Given the description of an element on the screen output the (x, y) to click on. 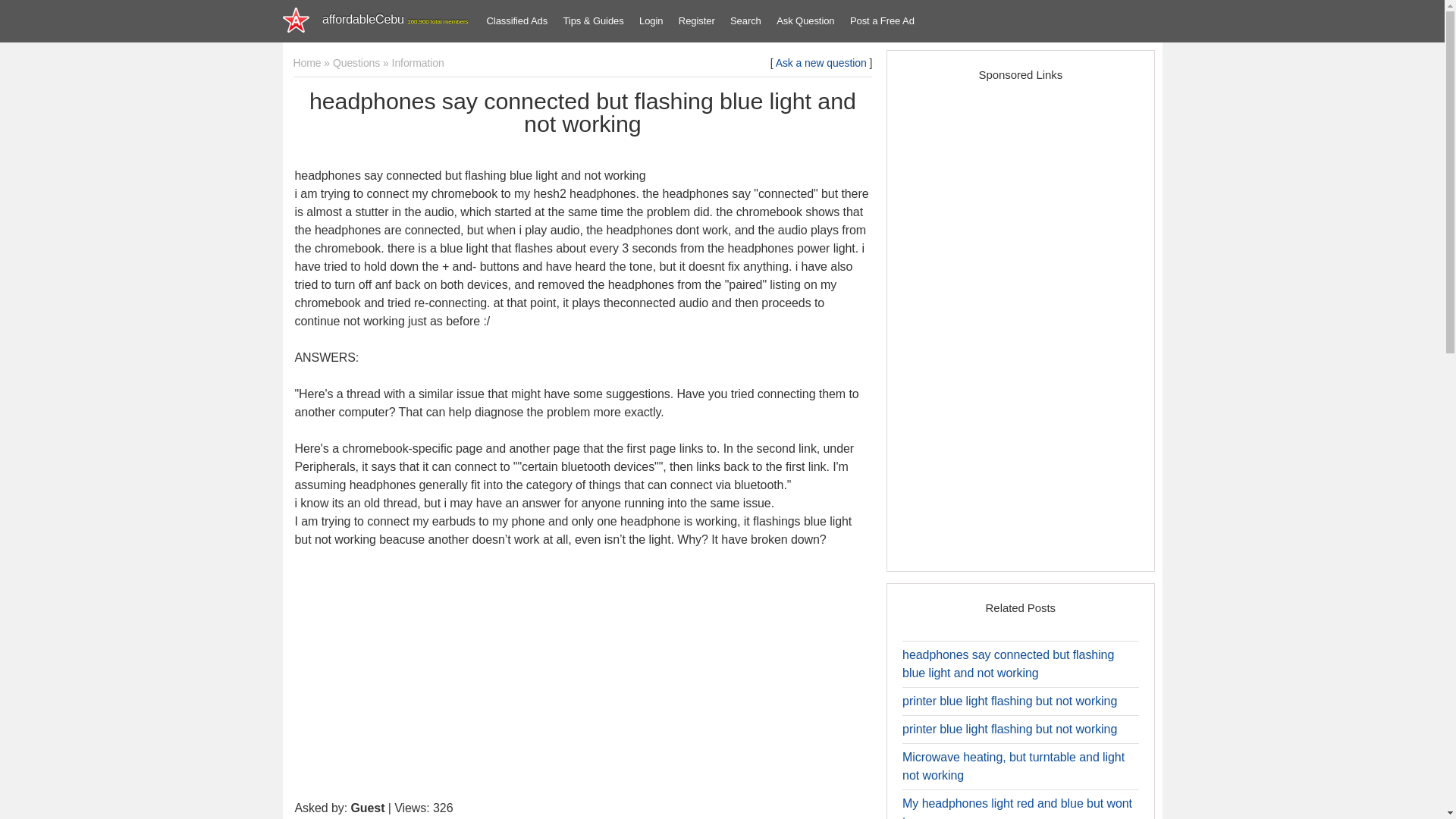
Classified Ads (517, 21)
Ask a new question (821, 62)
Advertisement (582, 678)
printer blue light flashing but not working (1009, 728)
Information (417, 62)
Post a Free Ad (882, 21)
affordableCebu 160,900 total members (381, 21)
Microwave heating, but turntable and light not working (1013, 766)
Register (696, 21)
Search (745, 21)
Main (381, 21)
printer blue light flashing but not working (1009, 700)
Ask Question (805, 21)
Home (306, 62)
